Given the description of an element on the screen output the (x, y) to click on. 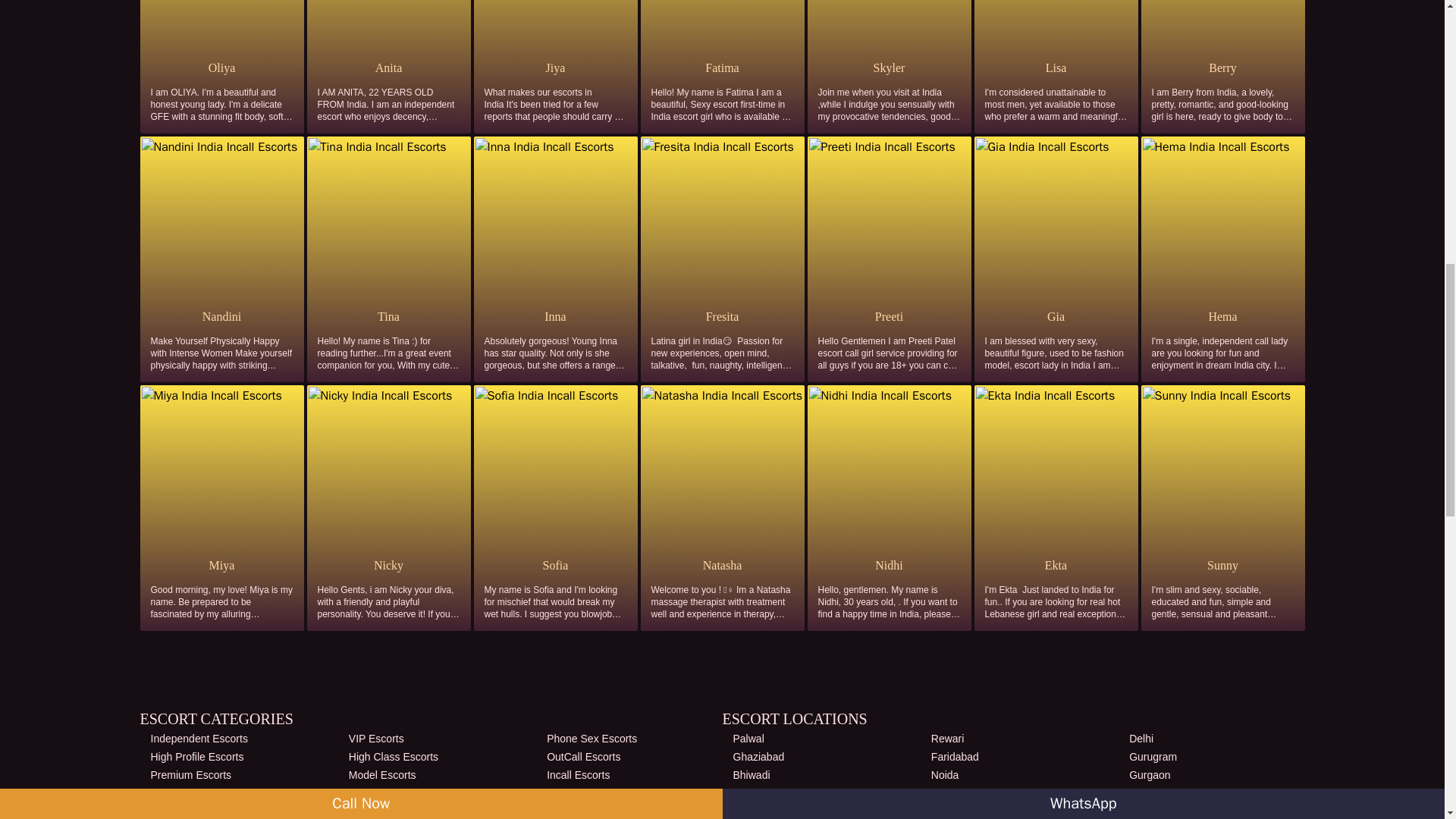
Tina (387, 316)
Nandini (221, 316)
Skyler (888, 67)
Nicky India Incall Escorts (387, 565)
Miya India Incall Escorts (221, 565)
Hema India Incall Escorts (1222, 316)
Tina India Incall Escorts (387, 316)
Skyler India Incall Escorts (888, 67)
Sofia India Incall Escorts (554, 565)
Fatima India Incall Escorts (722, 67)
